Given the description of an element on the screen output the (x, y) to click on. 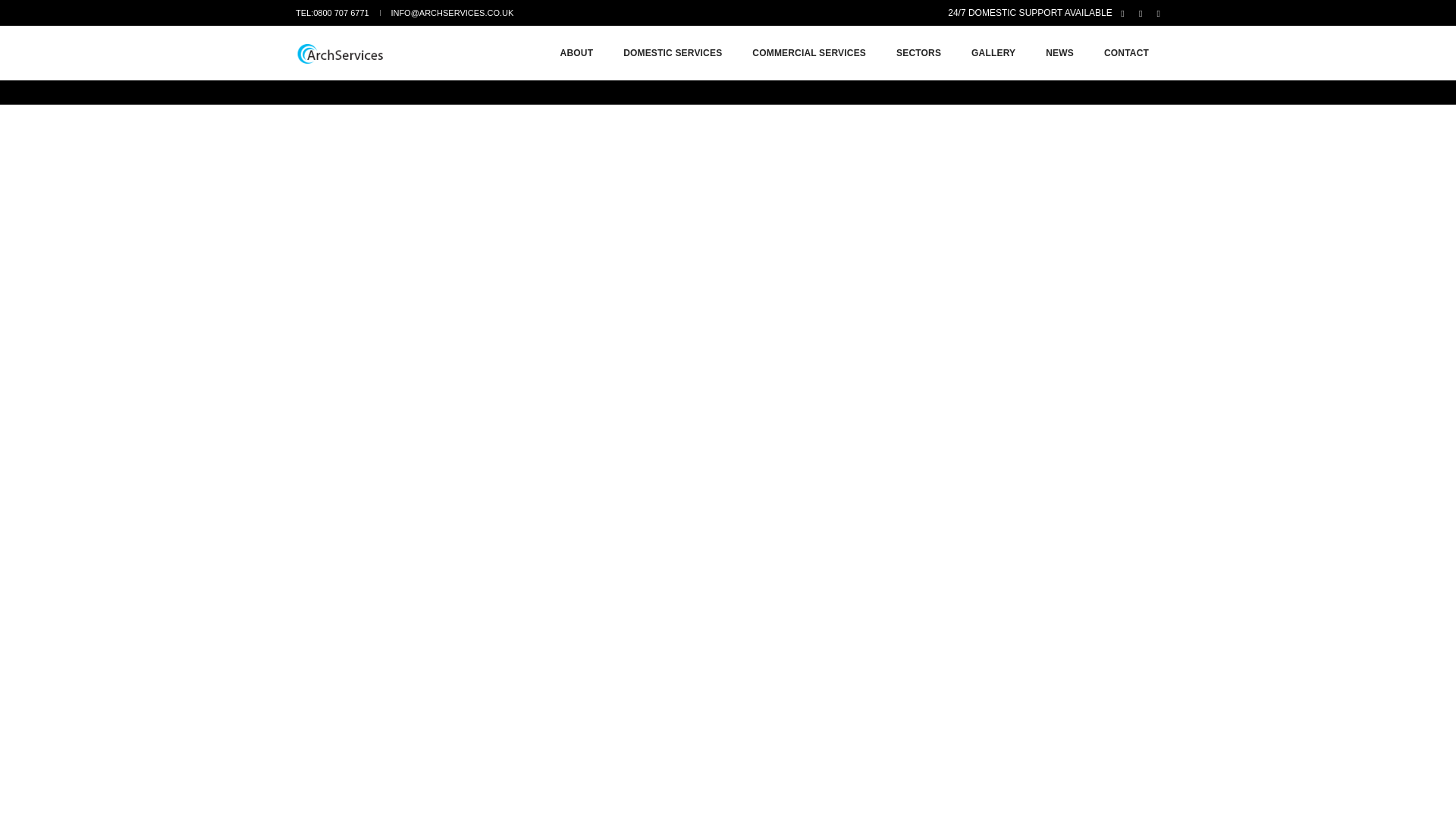
COMMERCIAL SERVICES (809, 52)
Free Download Guides (1029, 12)
Facebook (1122, 12)
Arch Services (352, 53)
Twitter (1140, 12)
DOMESTIC SERVICES (672, 52)
Call us 0800 707 6771 (332, 12)
TEL:0800 707 6771 (332, 12)
